Given the description of an element on the screen output the (x, y) to click on. 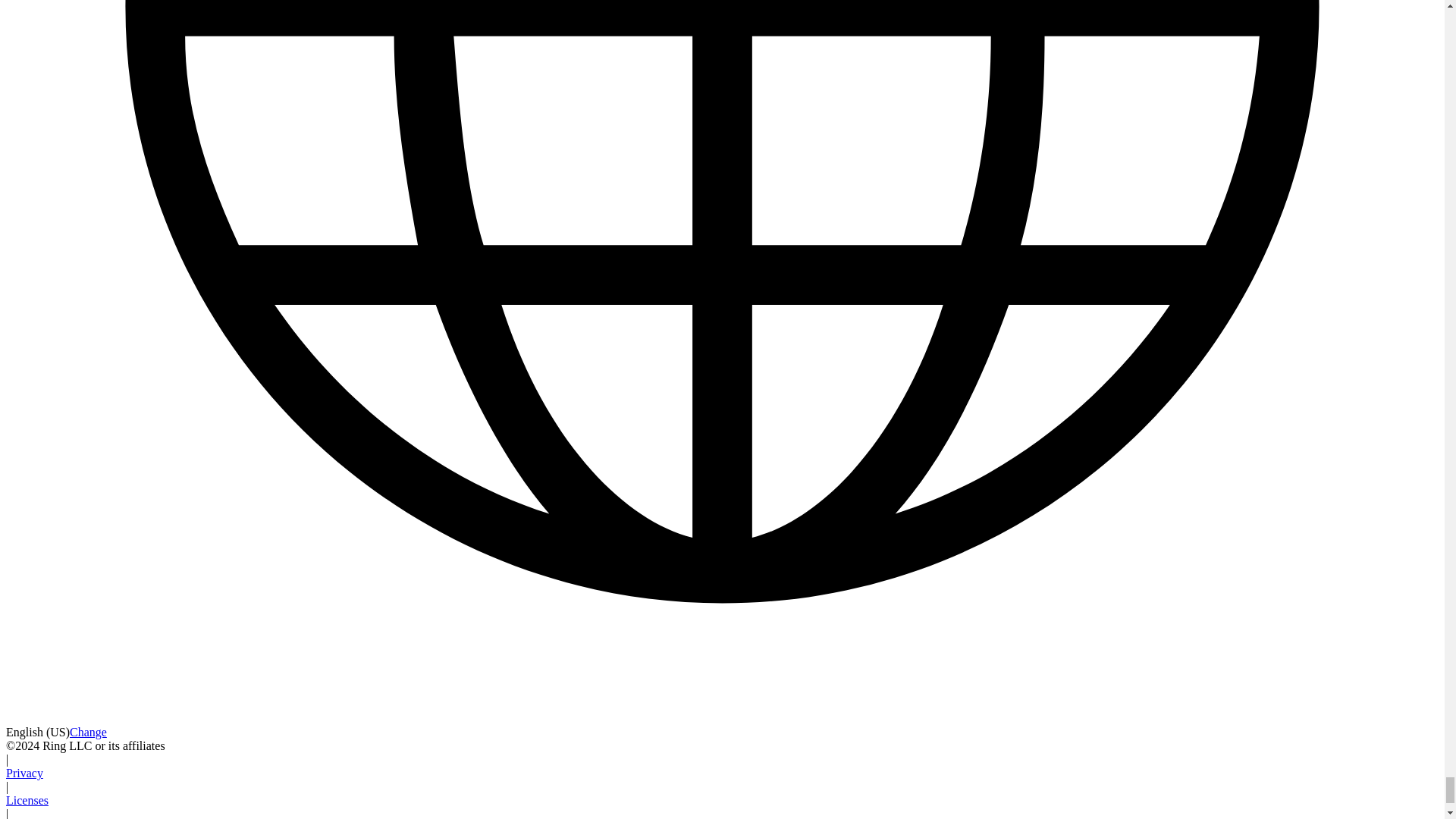
Privacy (24, 772)
Licenses (26, 799)
Change (87, 731)
